Given the description of an element on the screen output the (x, y) to click on. 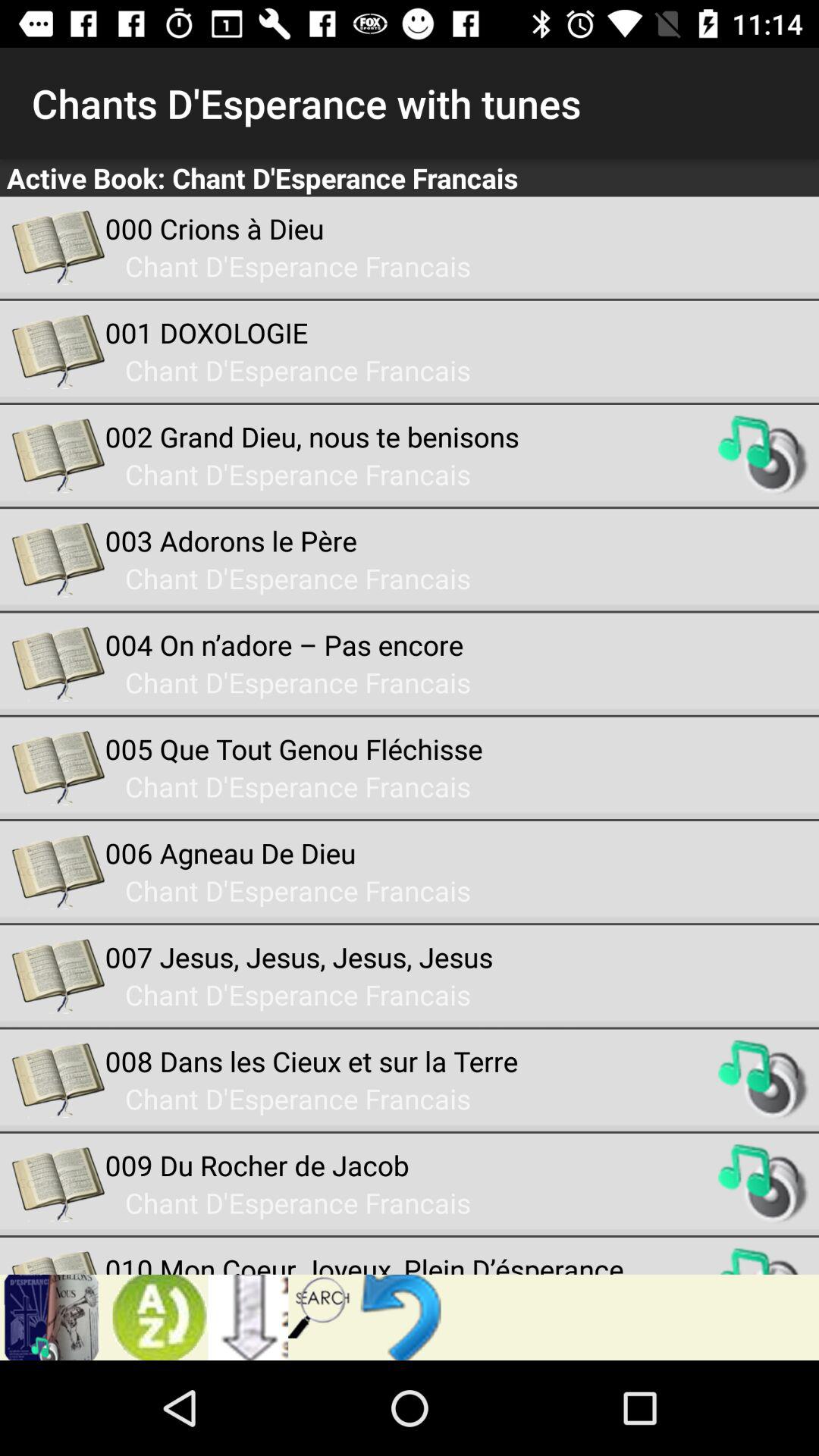
play from start (404, 1317)
